Given the description of an element on the screen output the (x, y) to click on. 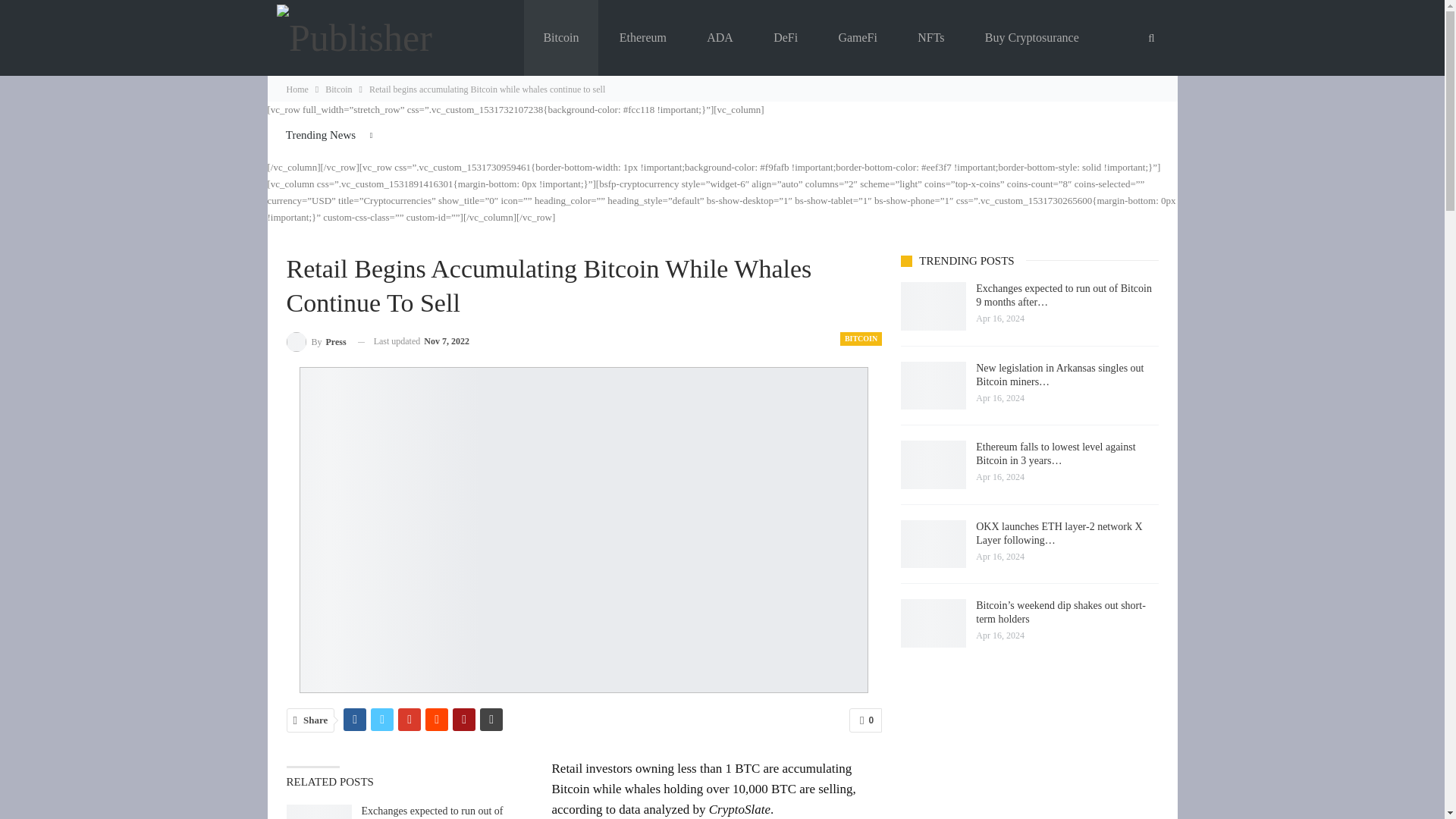
GameFi (857, 38)
Browse Author Articles (316, 341)
BITCOIN (861, 338)
Bitcoin (560, 38)
Bitcoin (338, 89)
By Press (316, 341)
0 (865, 720)
Ethereum (642, 38)
Buy Cryptosurance (1031, 38)
Home (297, 89)
